Given the description of an element on the screen output the (x, y) to click on. 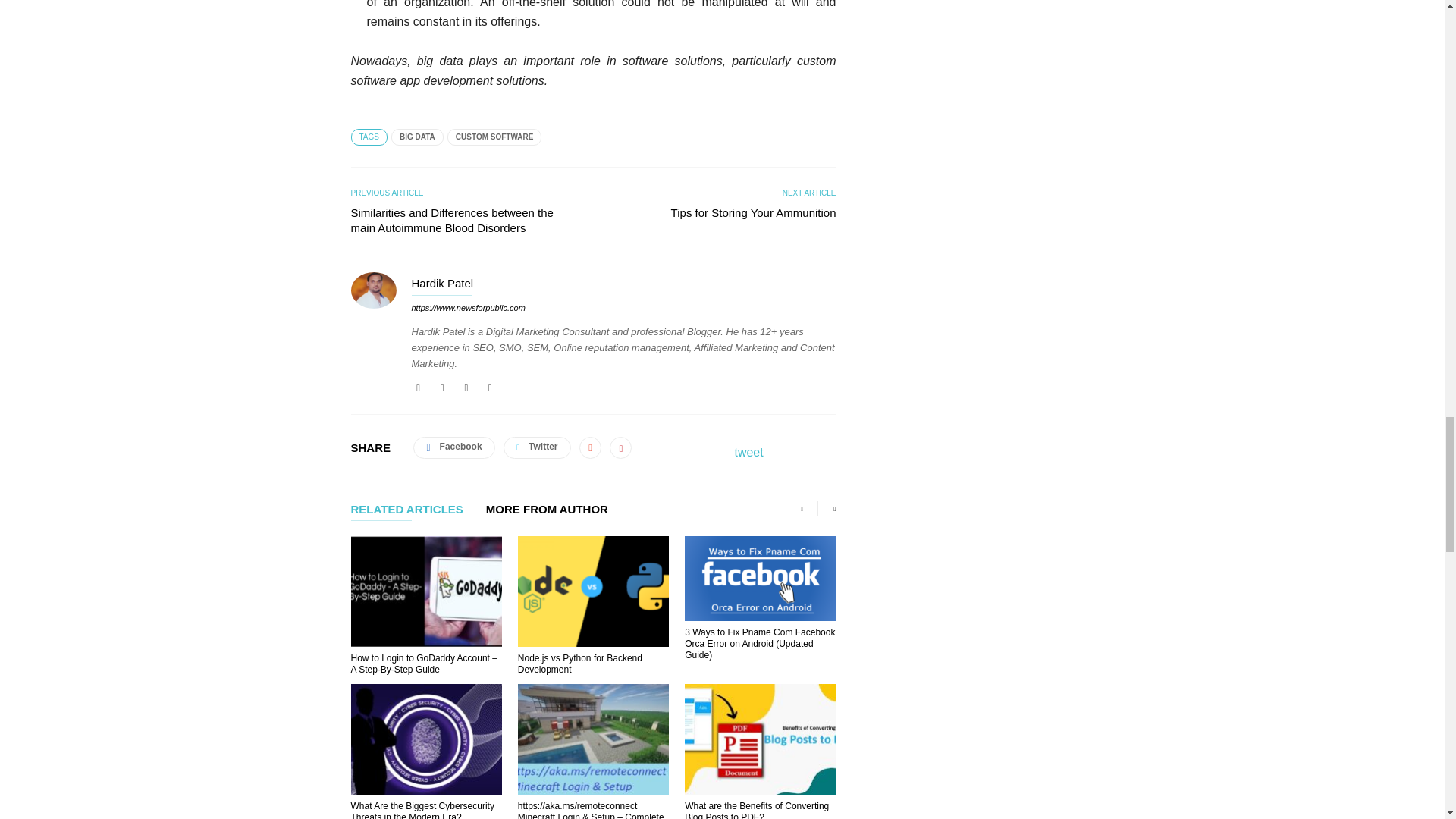
Linkedin (441, 387)
Facebook (418, 387)
